Given the description of an element on the screen output the (x, y) to click on. 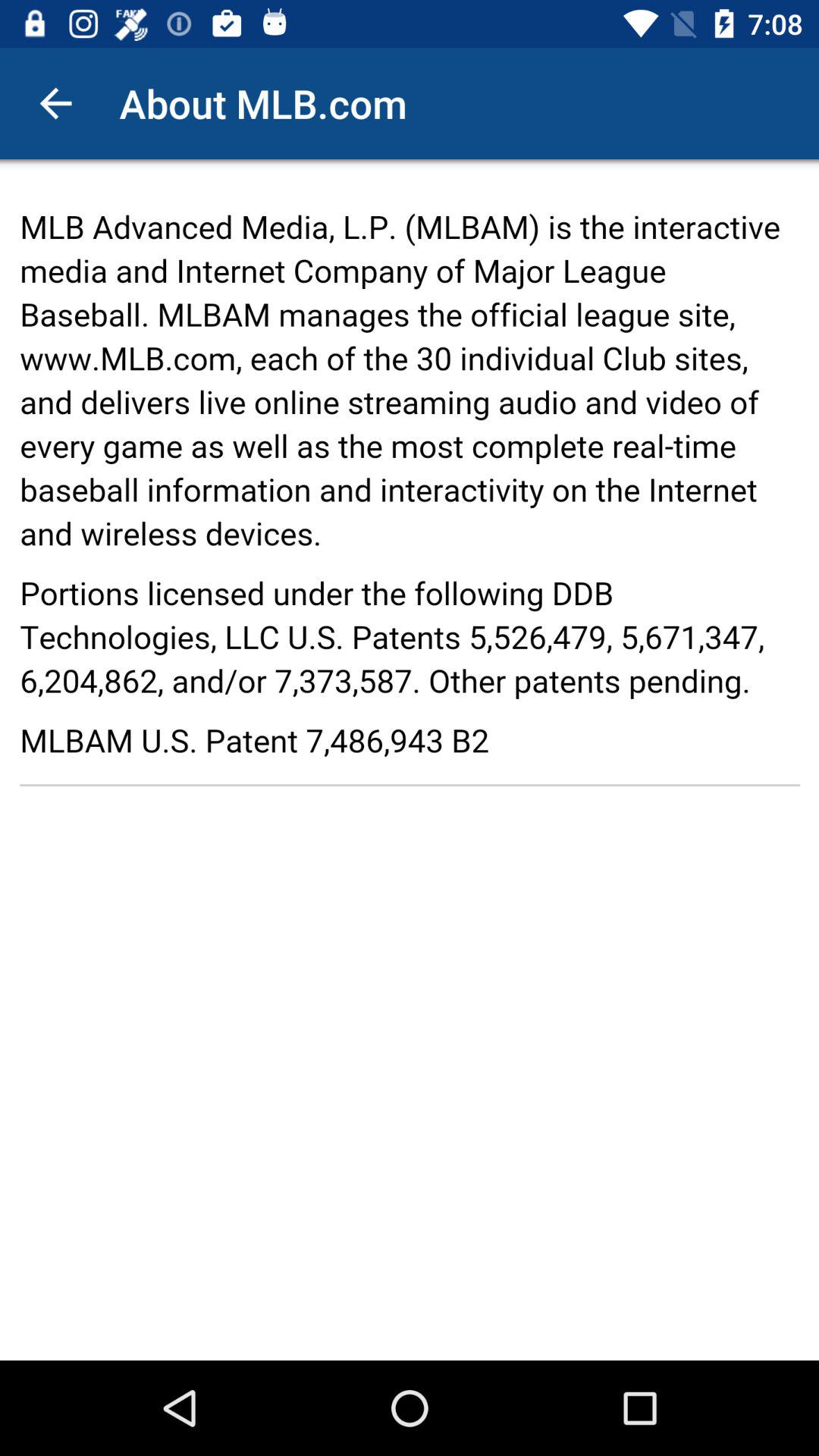
adventisment page (409, 759)
